Given the description of an element on the screen output the (x, y) to click on. 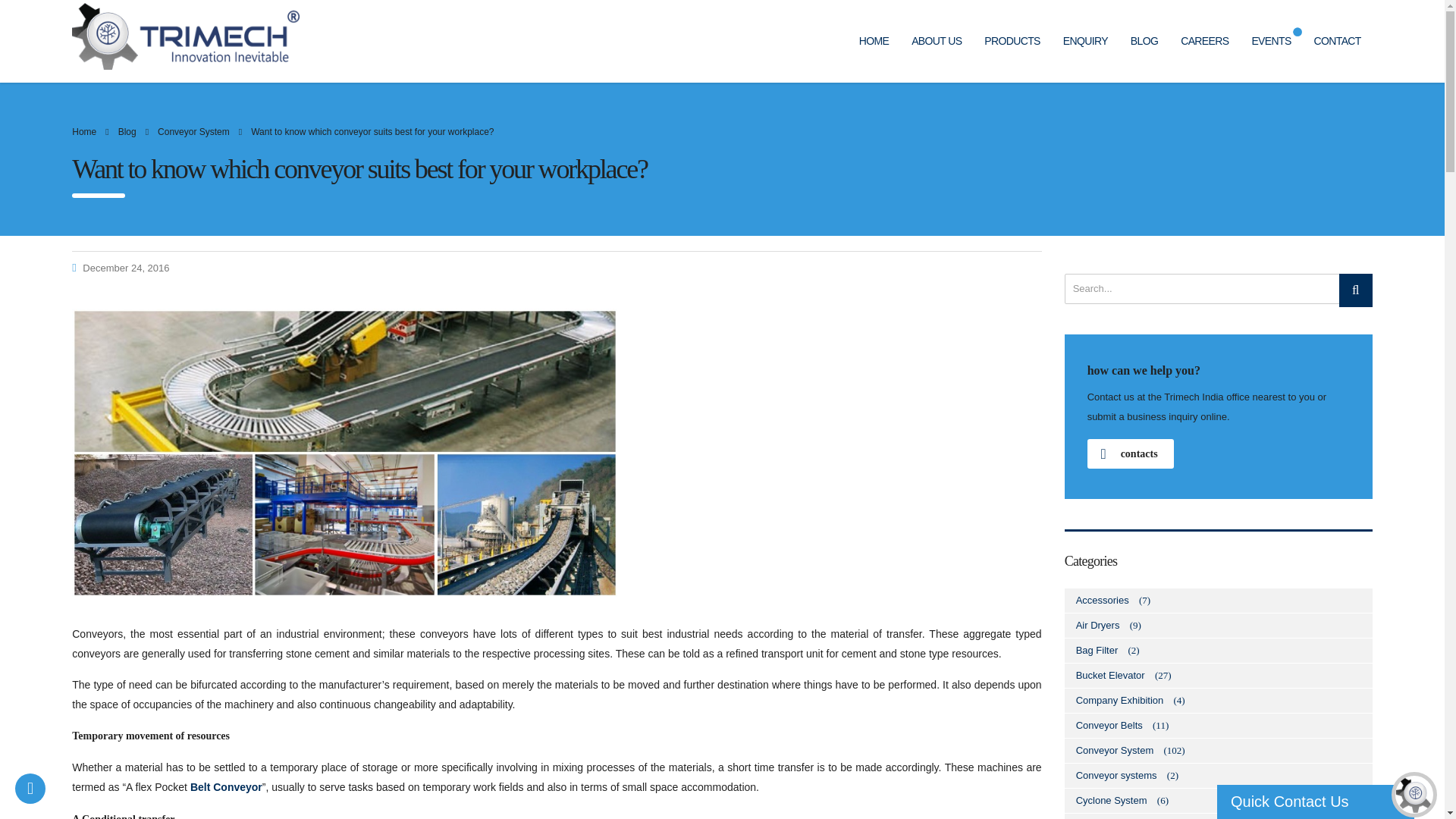
CAREERS (1204, 40)
Go to the Conveyor System category archives. (193, 131)
Go to Blog. (126, 131)
PRODUCTS (1011, 40)
Go to Trimech India. (83, 131)
HOME (873, 40)
ABOUT US (935, 40)
BLOG (1144, 40)
CONTACT (1338, 40)
ENQUIRY (1085, 40)
